Given the description of an element on the screen output the (x, y) to click on. 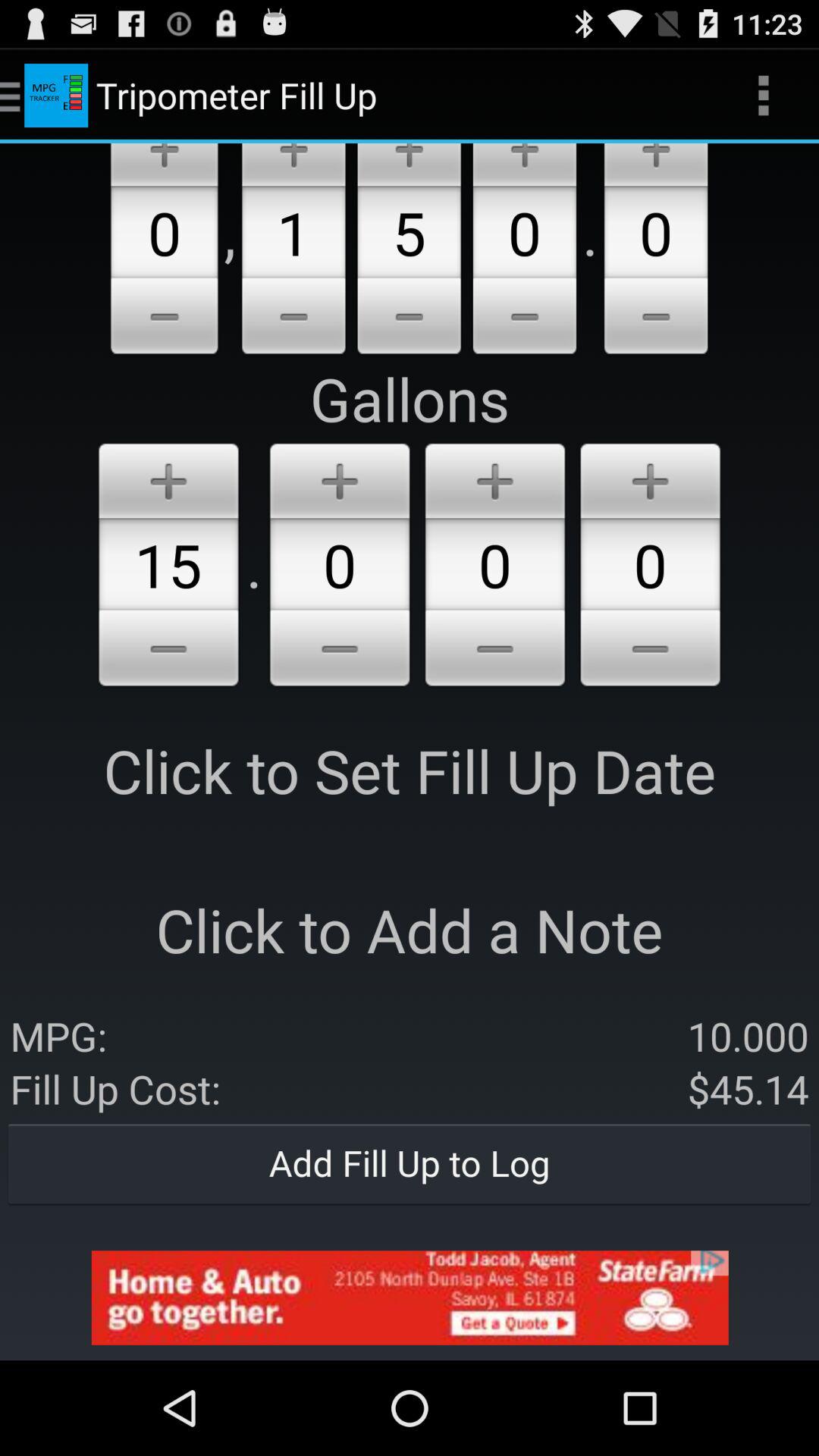
reduce value option (164, 318)
